Given the description of an element on the screen output the (x, y) to click on. 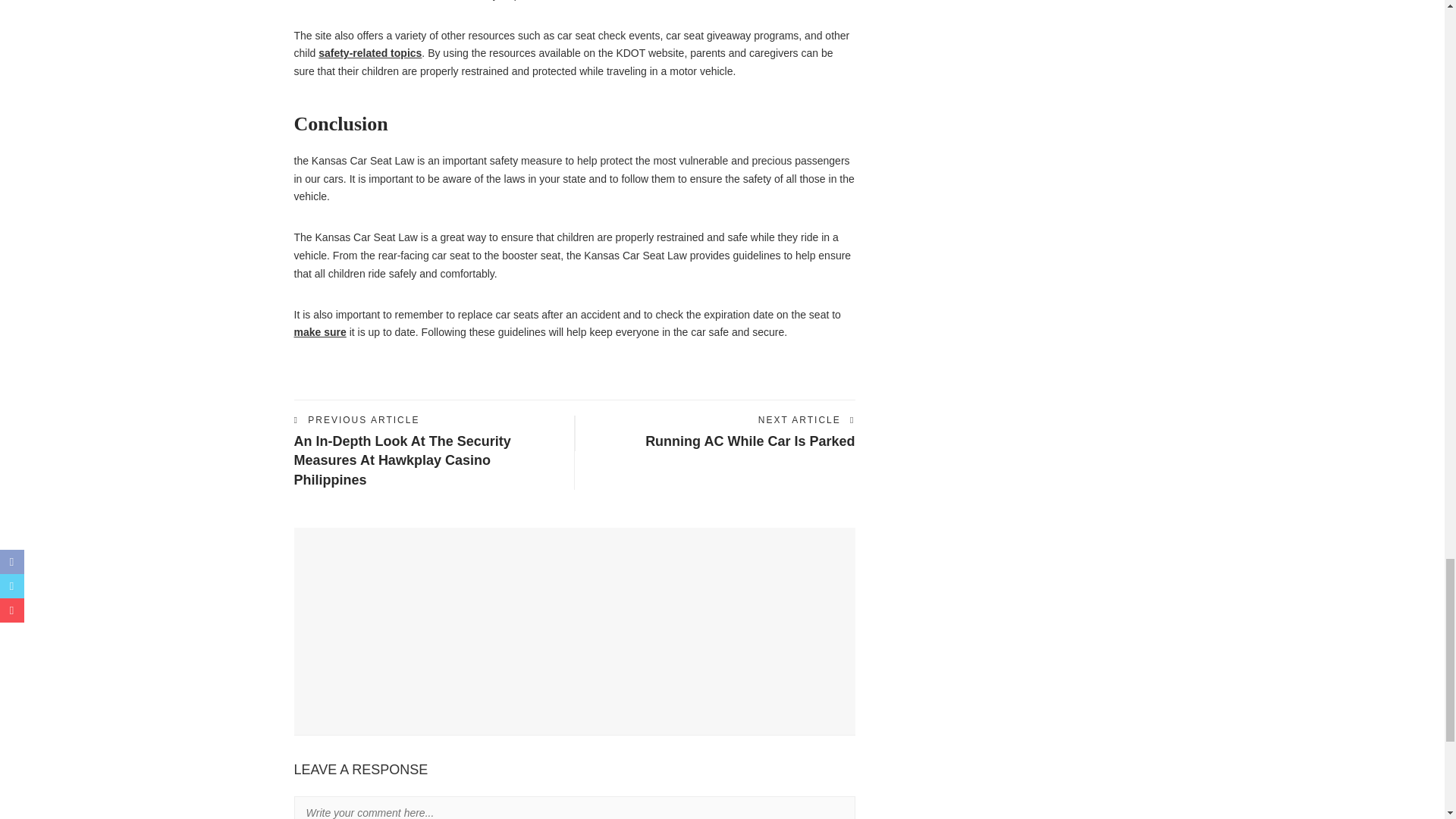
Running AC While Car Is Parked (749, 441)
10 Simple Habits for a Healthier, Happier Life (308, 570)
10 Simple Habits for a Healthier, Happier Life (409, 594)
